Given the description of an element on the screen output the (x, y) to click on. 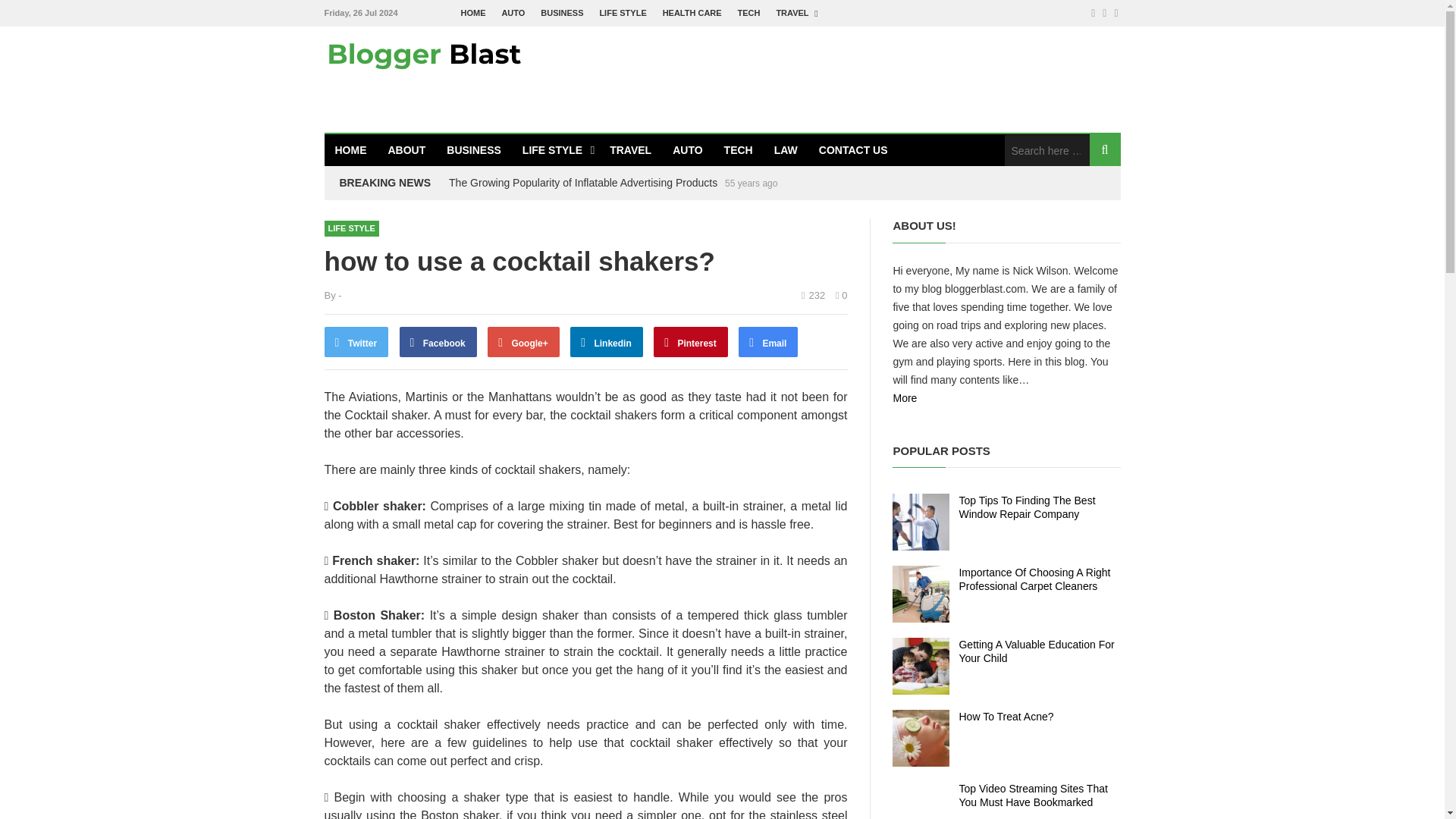
HOME (473, 13)
Search for: (1046, 150)
TRAVEL (630, 150)
ABOUT (406, 150)
TRAVEL (794, 13)
HEALTH CARE (692, 13)
HOME (350, 150)
BUSINESS (473, 150)
BUSINESS (561, 13)
LIFE STYLE (555, 150)
LIFE STYLE (622, 13)
